Given the description of an element on the screen output the (x, y) to click on. 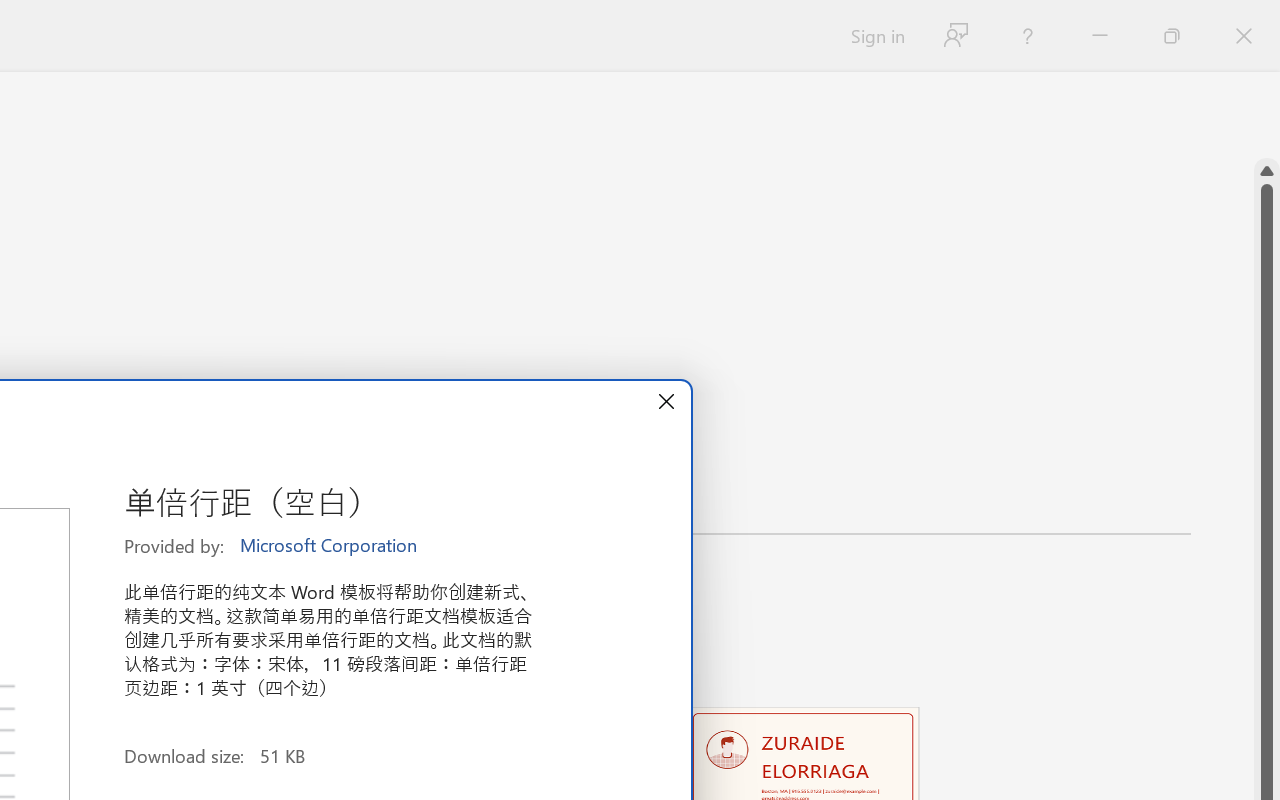
Microsoft Corporation (330, 546)
Line up (1267, 171)
